Given the description of an element on the screen output the (x, y) to click on. 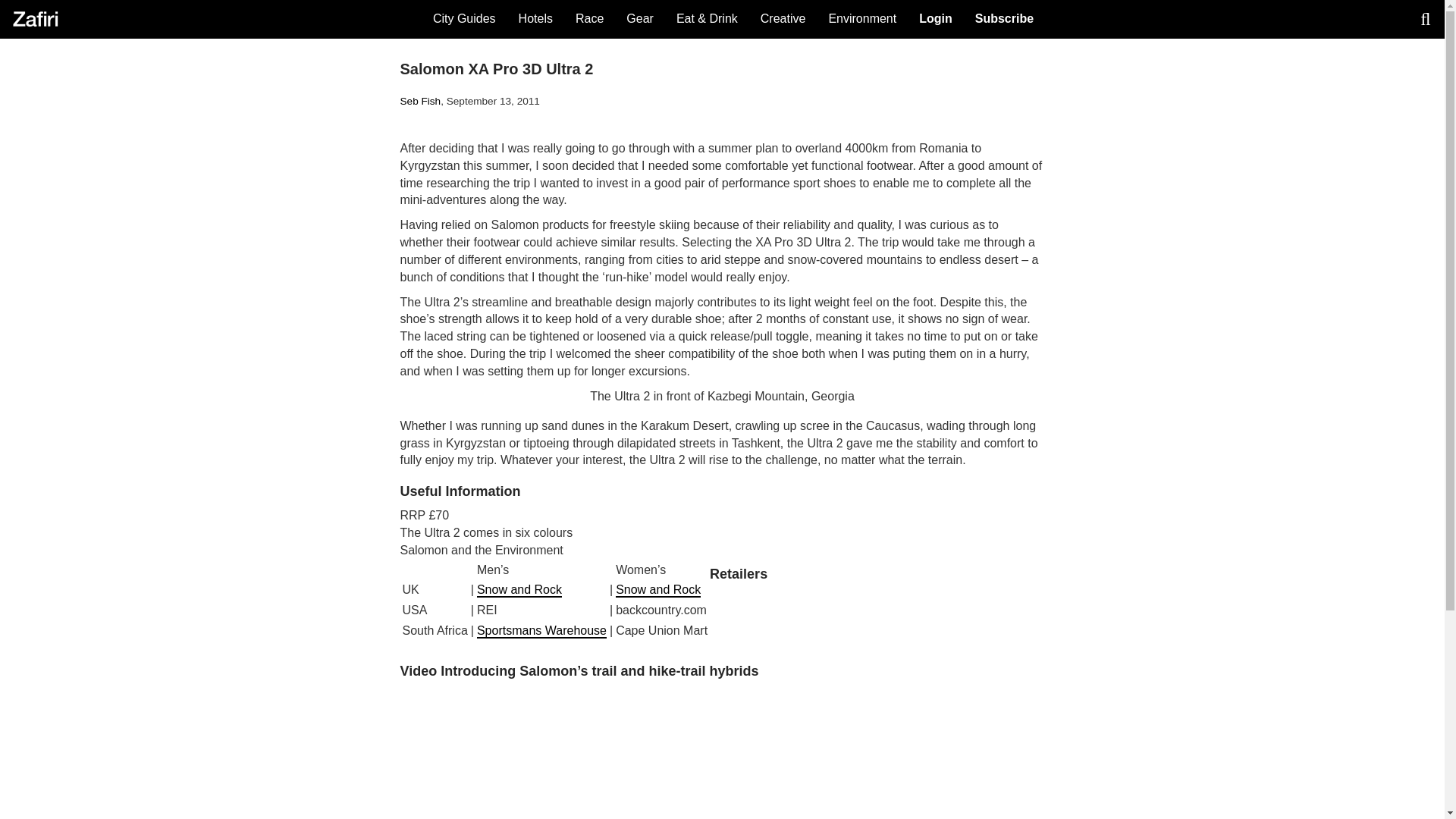
Subscribe (1004, 18)
City Guides (464, 18)
Environment (861, 18)
Snow and Rock (657, 590)
Hotels (535, 18)
City Guides (464, 18)
Creative (782, 18)
Sportsmans Warehouse (542, 631)
Creative (782, 18)
Snow and Rock (519, 590)
